Given the description of an element on the screen output the (x, y) to click on. 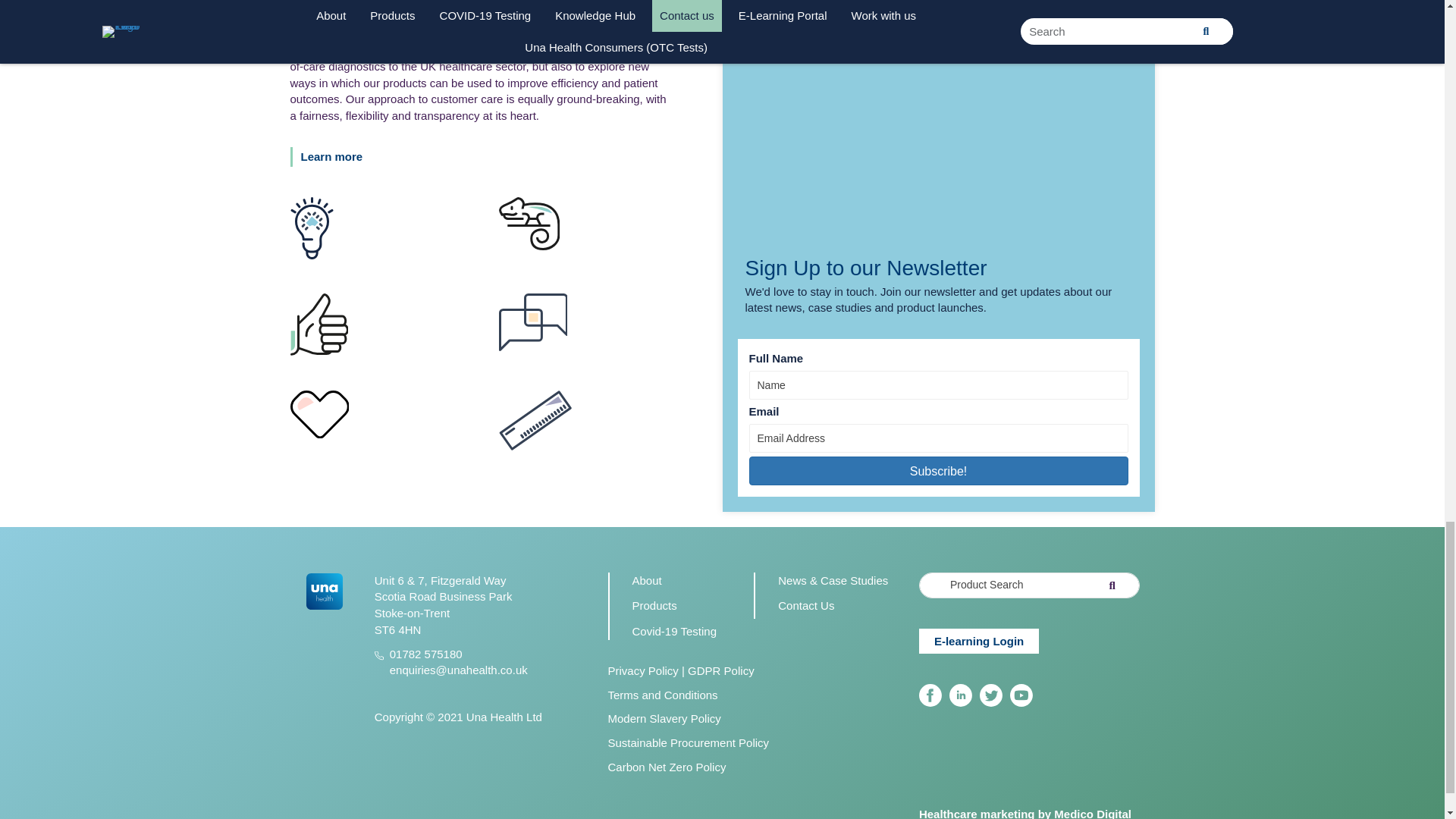
Carbon Net Zero Policy (667, 766)
Sustainable Procurement Policy (689, 742)
Products (654, 604)
Learn more (333, 157)
E-learning Login (978, 640)
Modern Slavery Policy (664, 717)
Terms and Conditions (662, 694)
About (646, 580)
Contact Us (805, 604)
Privacy Policy (643, 670)
staffordshire-chambers-of-commerce-logo-white (965, 754)
Subscribe! (938, 470)
01782 575180 (426, 653)
GDPR Policy (720, 670)
